Given the description of an element on the screen output the (x, y) to click on. 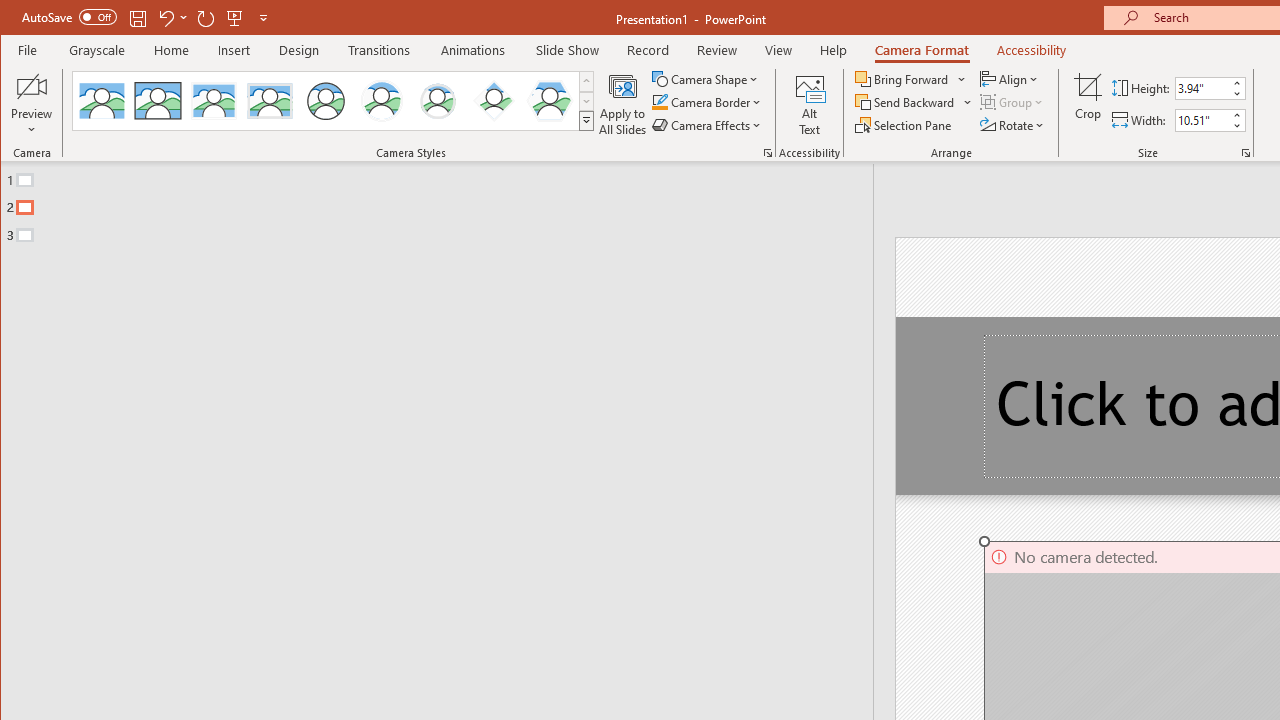
Align (1010, 78)
Camera Border Blue, Accent 1 (659, 101)
